Given the description of an element on the screen output the (x, y) to click on. 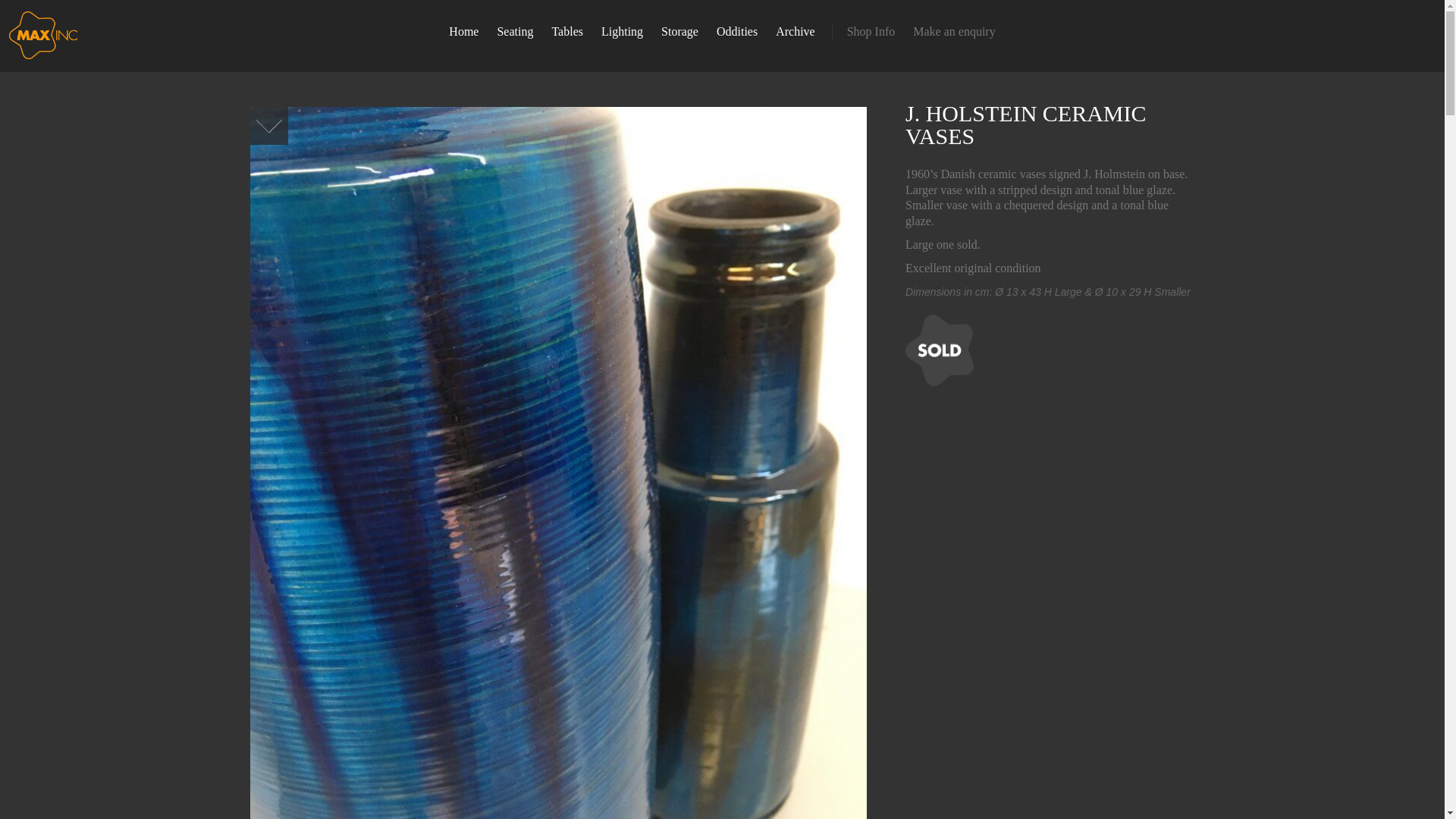
Home (463, 32)
Storage (679, 32)
Seating (514, 32)
Tables (567, 32)
Archive (795, 32)
Oddities (737, 32)
Shop Info (871, 32)
Lighting (622, 32)
Make an enquiry (954, 32)
